Given the description of an element on the screen output the (x, y) to click on. 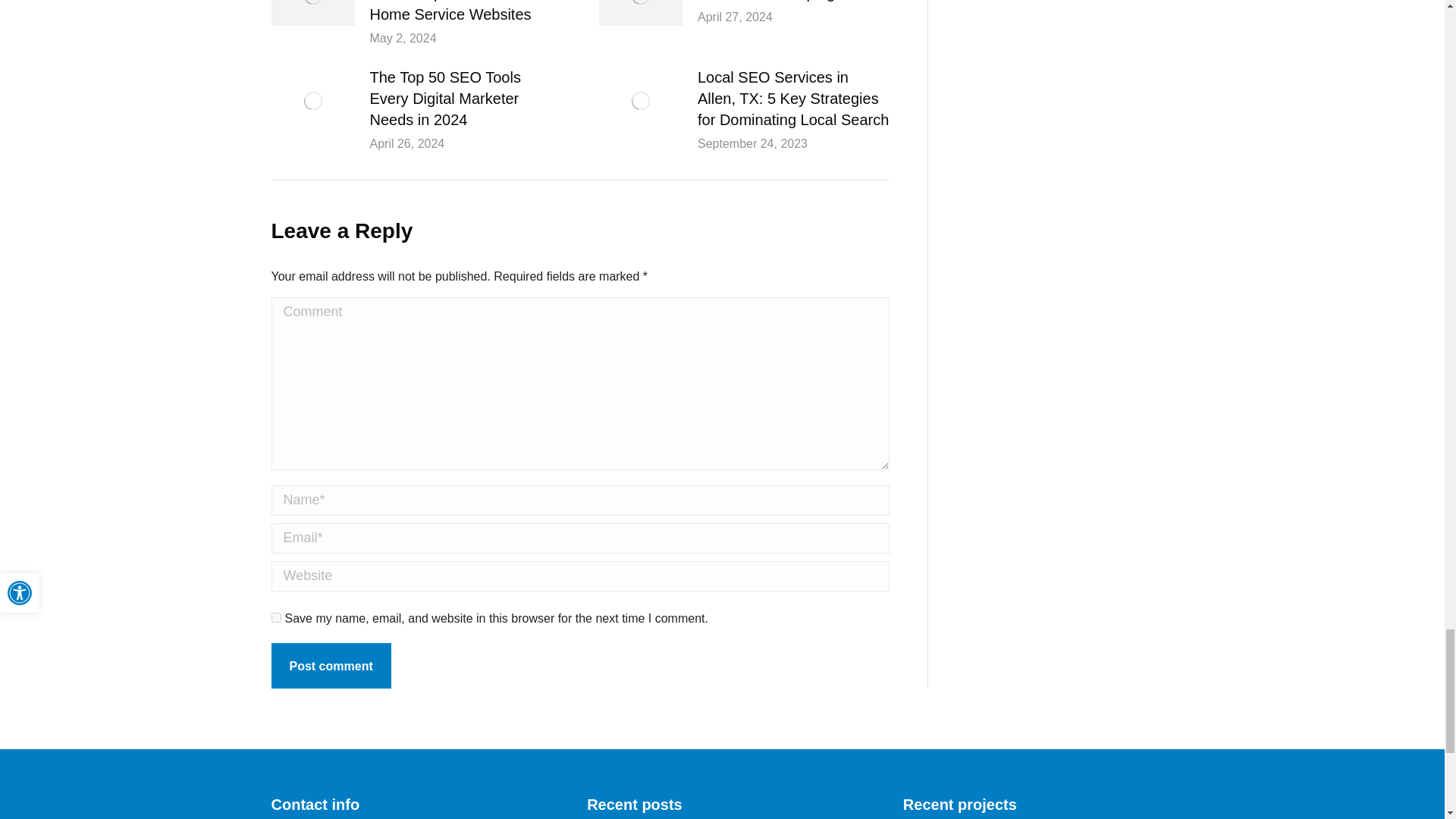
yes (275, 617)
